Given the description of an element on the screen output the (x, y) to click on. 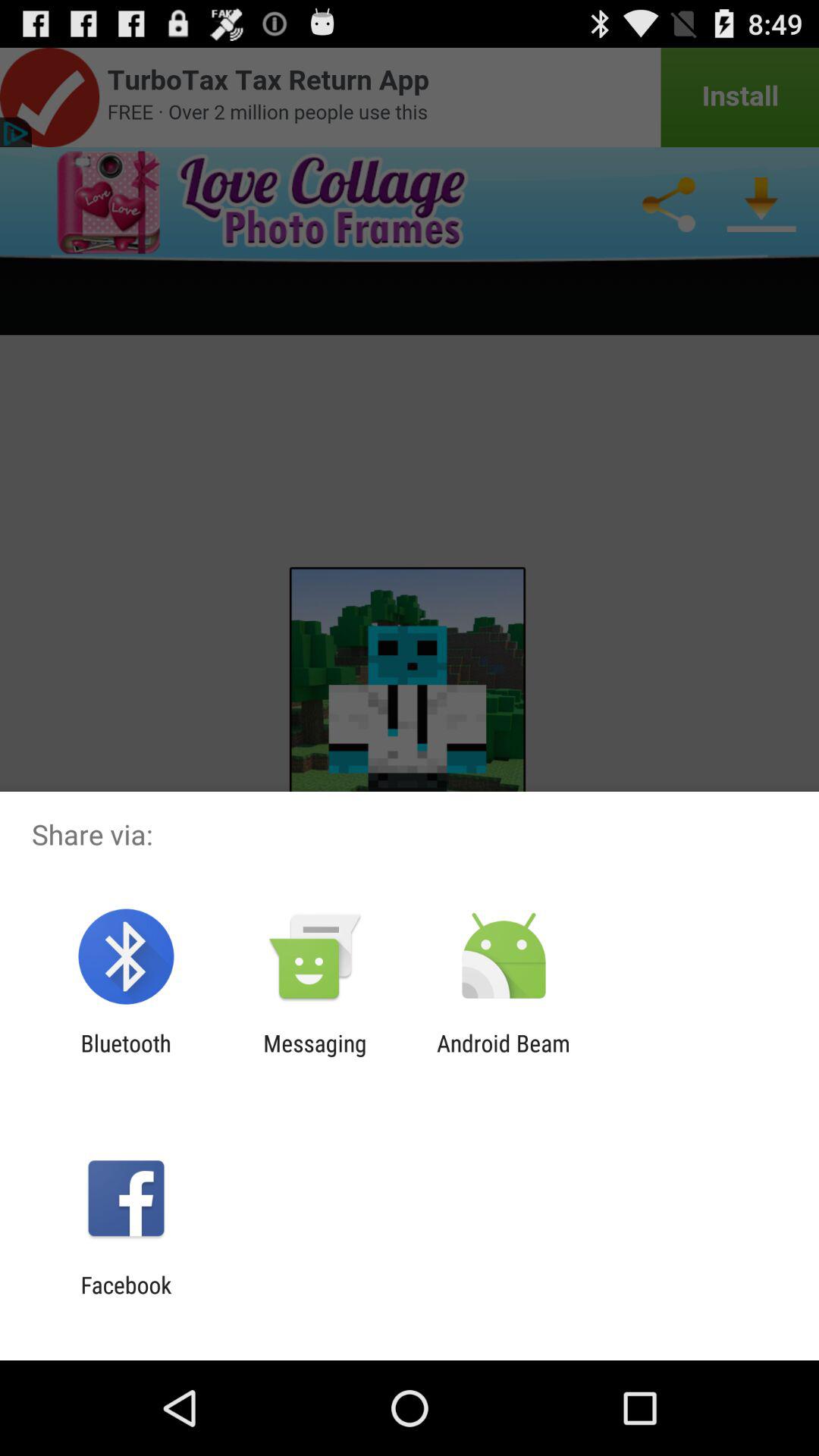
open item next to android beam app (314, 1056)
